Given the description of an element on the screen output the (x, y) to click on. 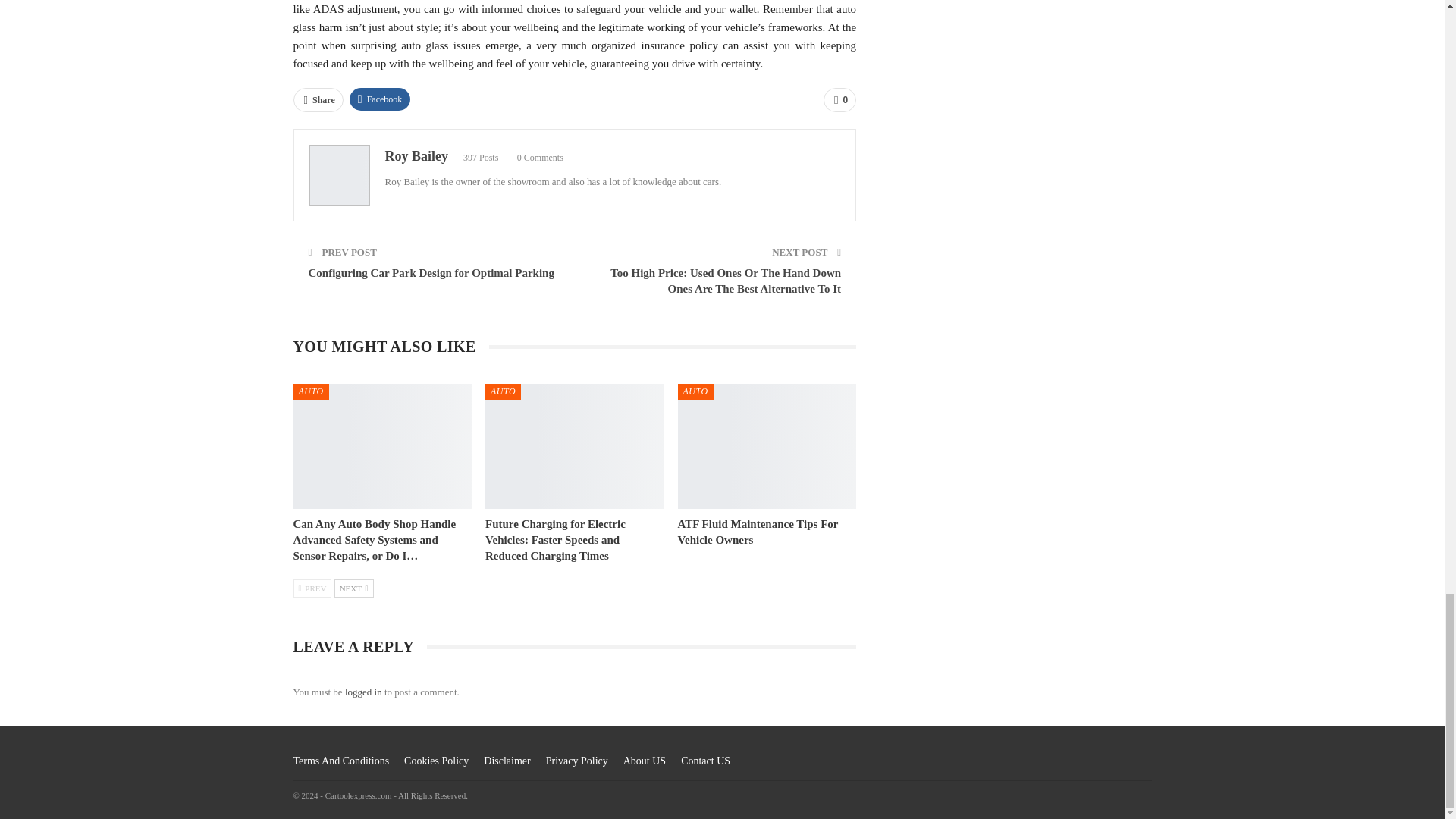
Roy Bailey (416, 155)
Facebook (379, 98)
0 (840, 99)
Configuring Car Park Design for Optimal Parking (430, 272)
